Given the description of an element on the screen output the (x, y) to click on. 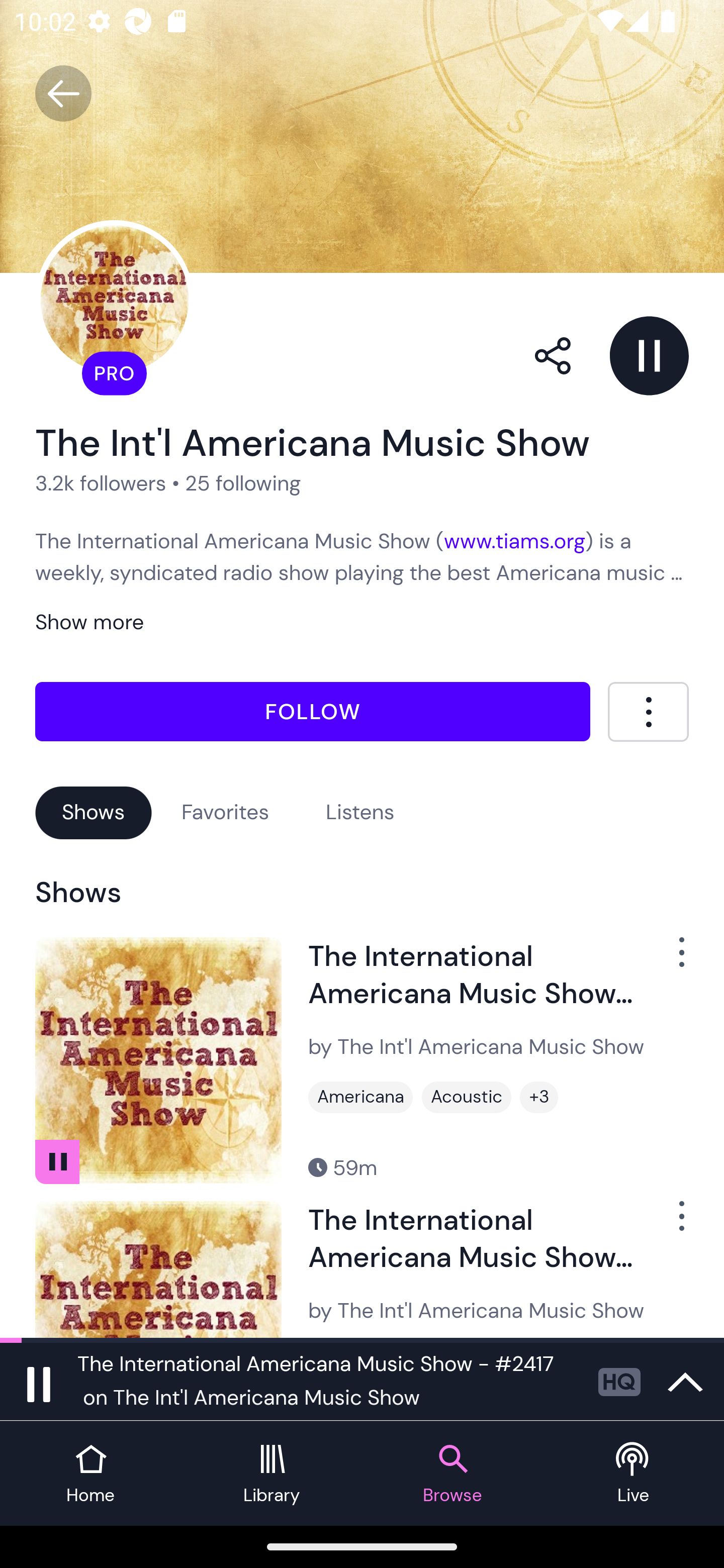
3.2k followers (100, 482)
25 following (243, 482)
Follow FOLLOW (312, 711)
More Menu (648, 711)
Shows (93, 811)
Favorites (225, 811)
Listens (359, 811)
Show Options Menu Button (670, 960)
Americana (360, 1097)
Acoustic (466, 1097)
Show Options Menu Button (670, 1223)
Home tab Home (90, 1473)
Library tab Library (271, 1473)
Browse tab Browse (452, 1473)
Live tab Live (633, 1473)
